Given the description of an element on the screen output the (x, y) to click on. 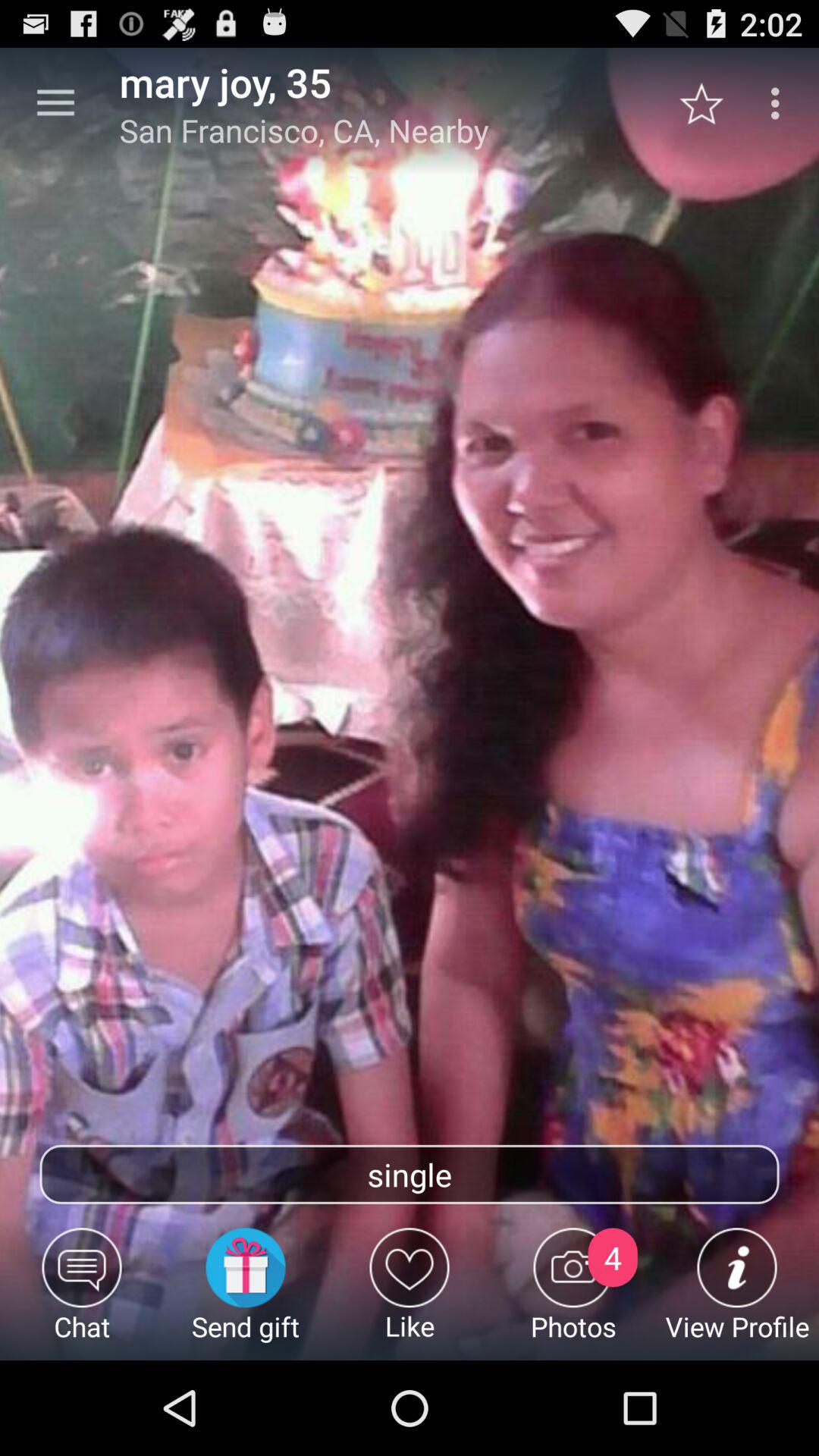
tap item below the single item (409, 1293)
